Given the description of an element on the screen output the (x, y) to click on. 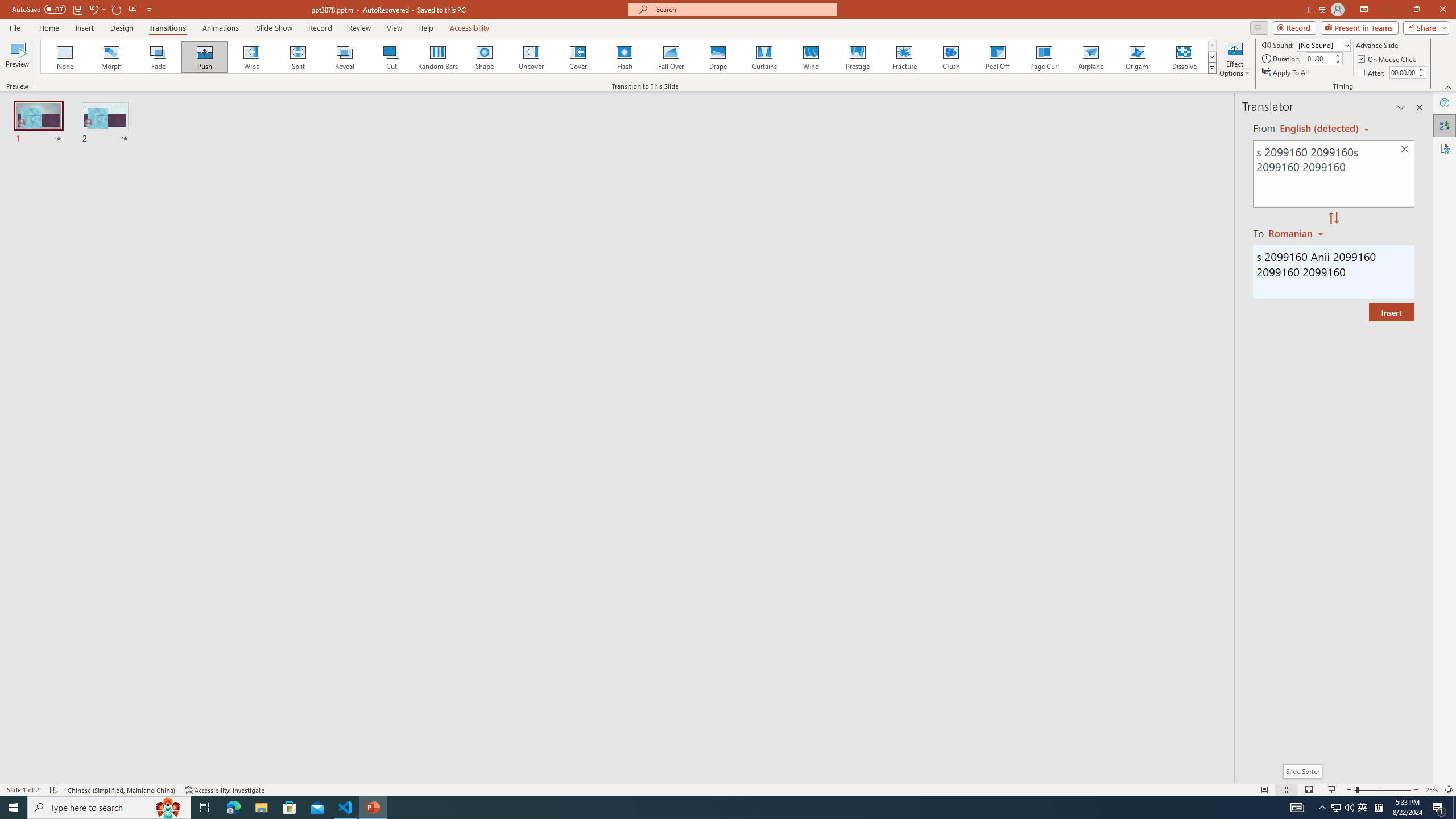
Wind (810, 56)
Less (1420, 75)
Fall Over (670, 56)
Uncover (531, 56)
Clear text (1404, 149)
